Given the description of an element on the screen output the (x, y) to click on. 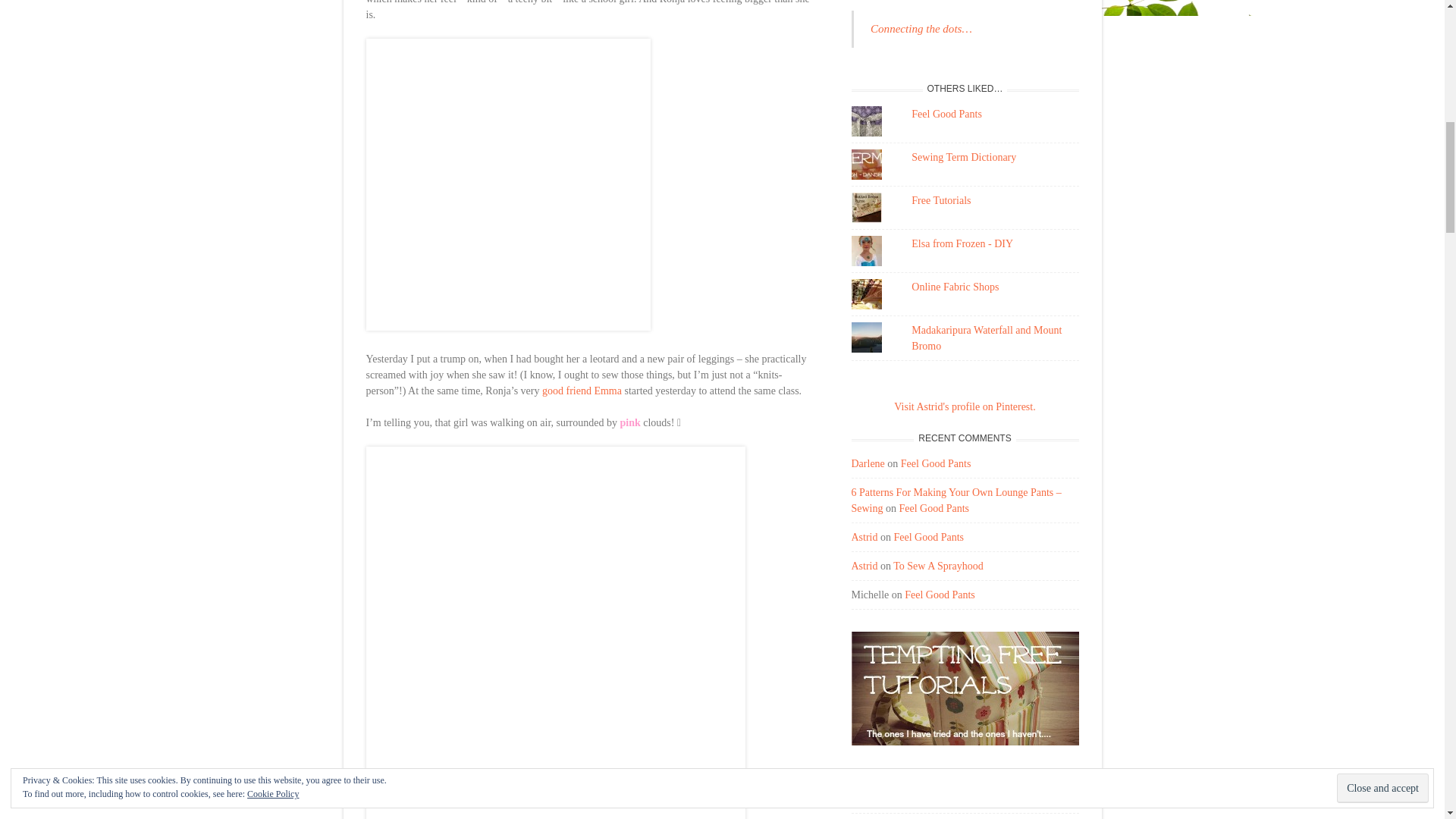
Feel Good Pants (946, 113)
good friend Emma (581, 390)
Sewing Term Dictionary (963, 156)
